Given the description of an element on the screen output the (x, y) to click on. 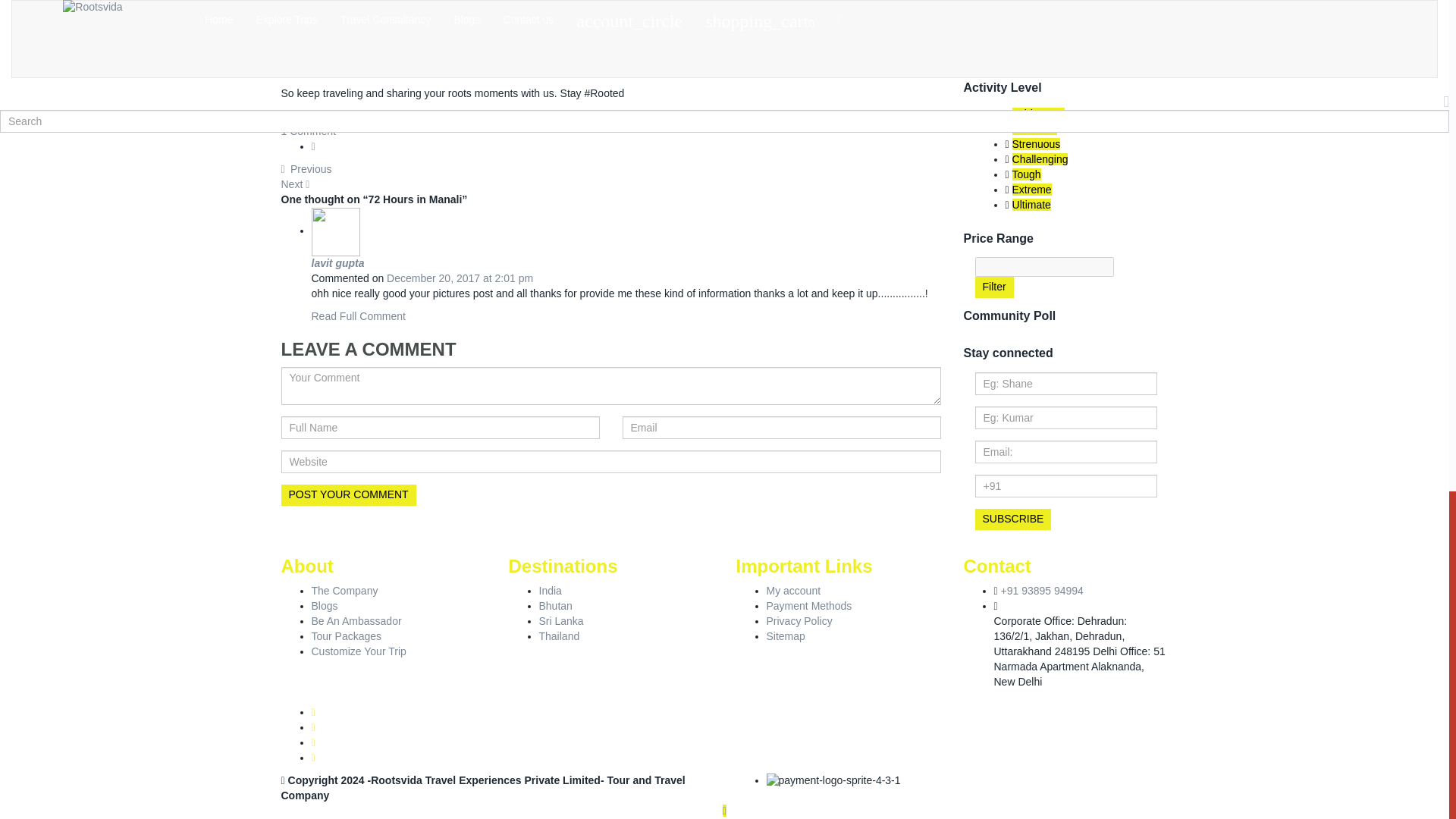
1 Comment (307, 131)
Read Full Comment (358, 316)
  Previous (306, 168)
POST YOUR COMMENT (347, 495)
ROOTS (573, 70)
Next   (296, 184)
shally makin (347, 115)
lavit gupta (337, 263)
Filter (994, 287)
December 20, 2017 at 2:01 pm (459, 277)
